Given the description of an element on the screen output the (x, y) to click on. 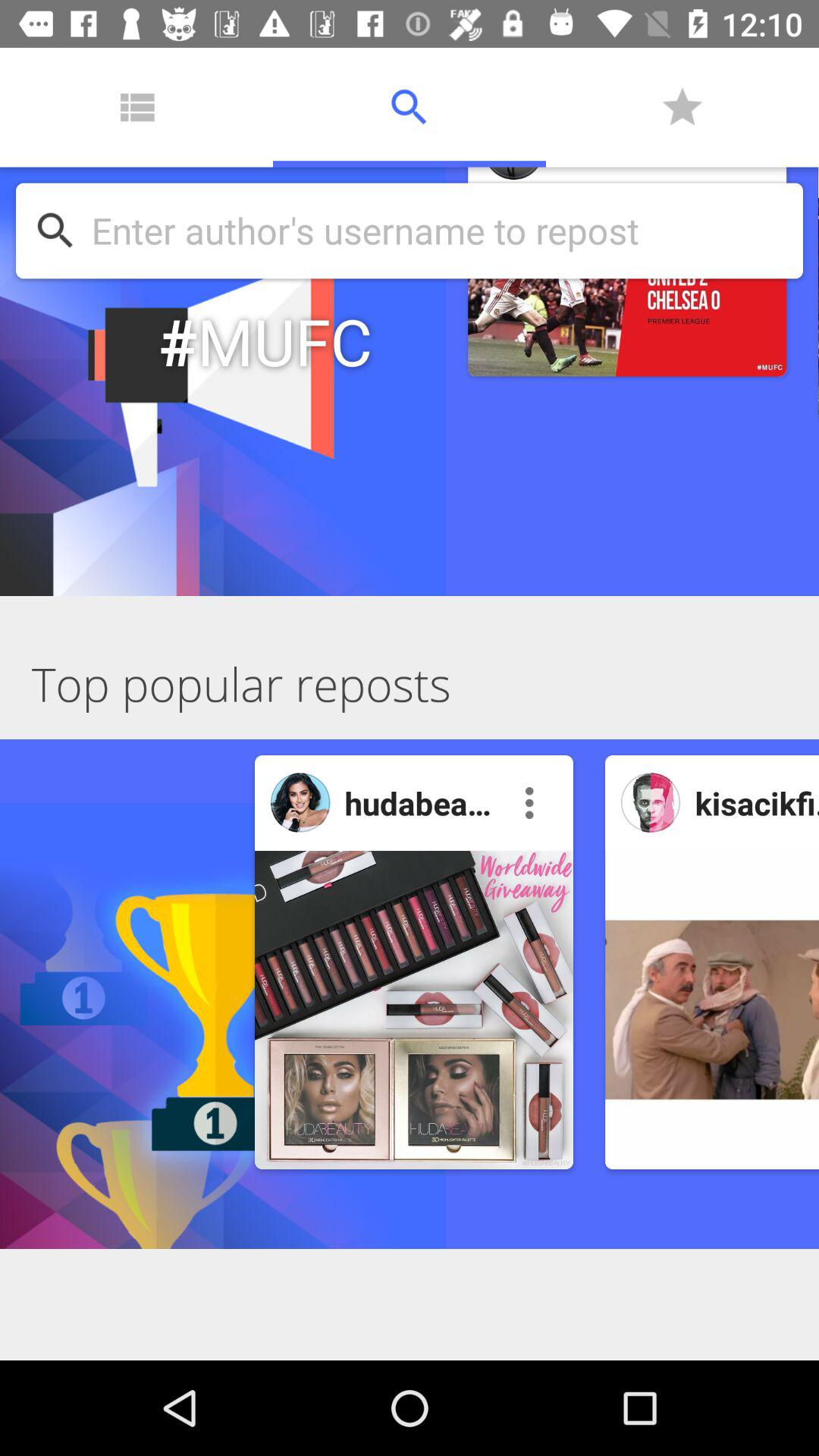
profie image (300, 802)
